Given the description of an element on the screen output the (x, y) to click on. 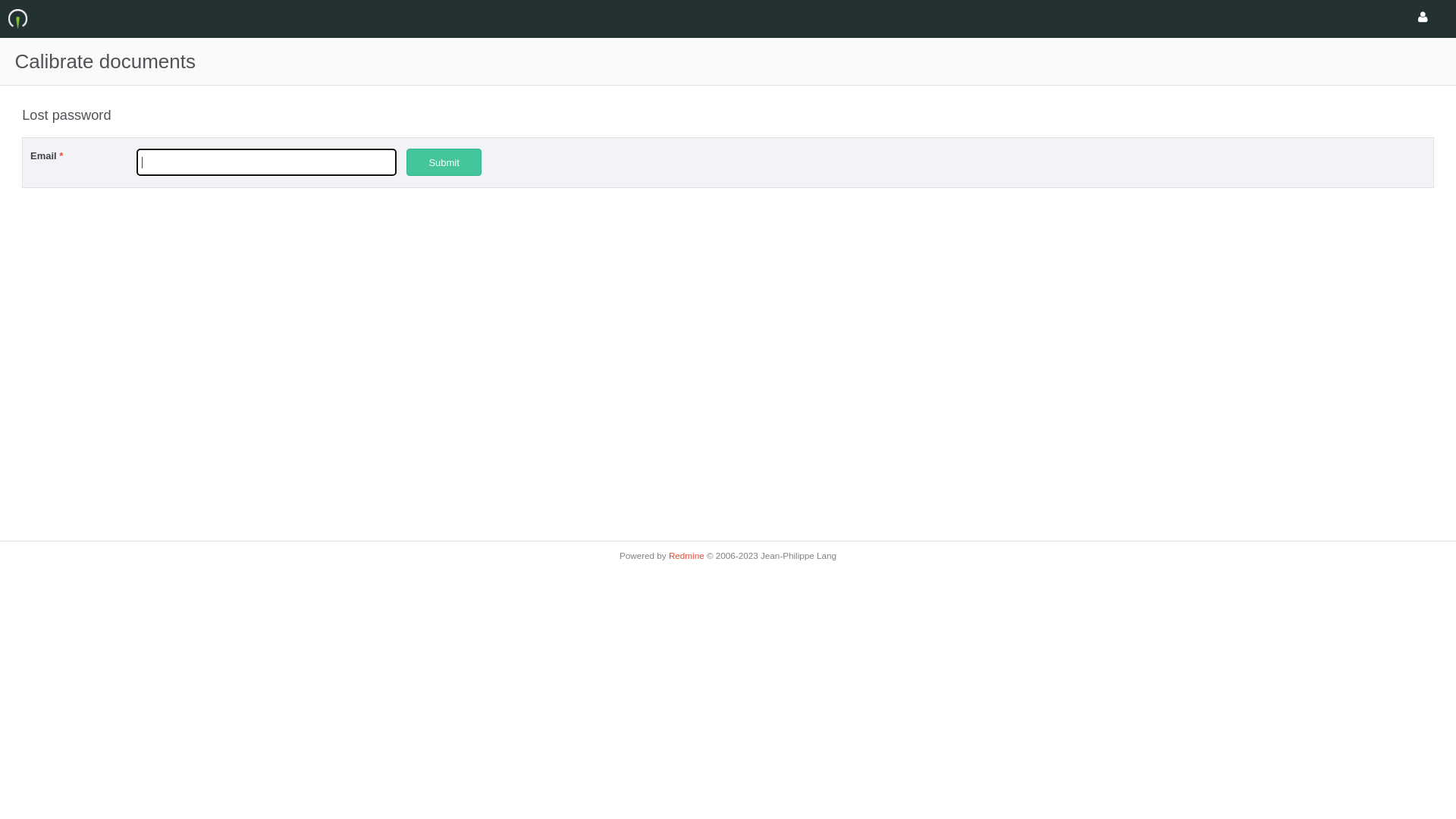
Redmine Element type: text (686, 555)
Submit Element type: text (443, 161)
